Given the description of an element on the screen output the (x, y) to click on. 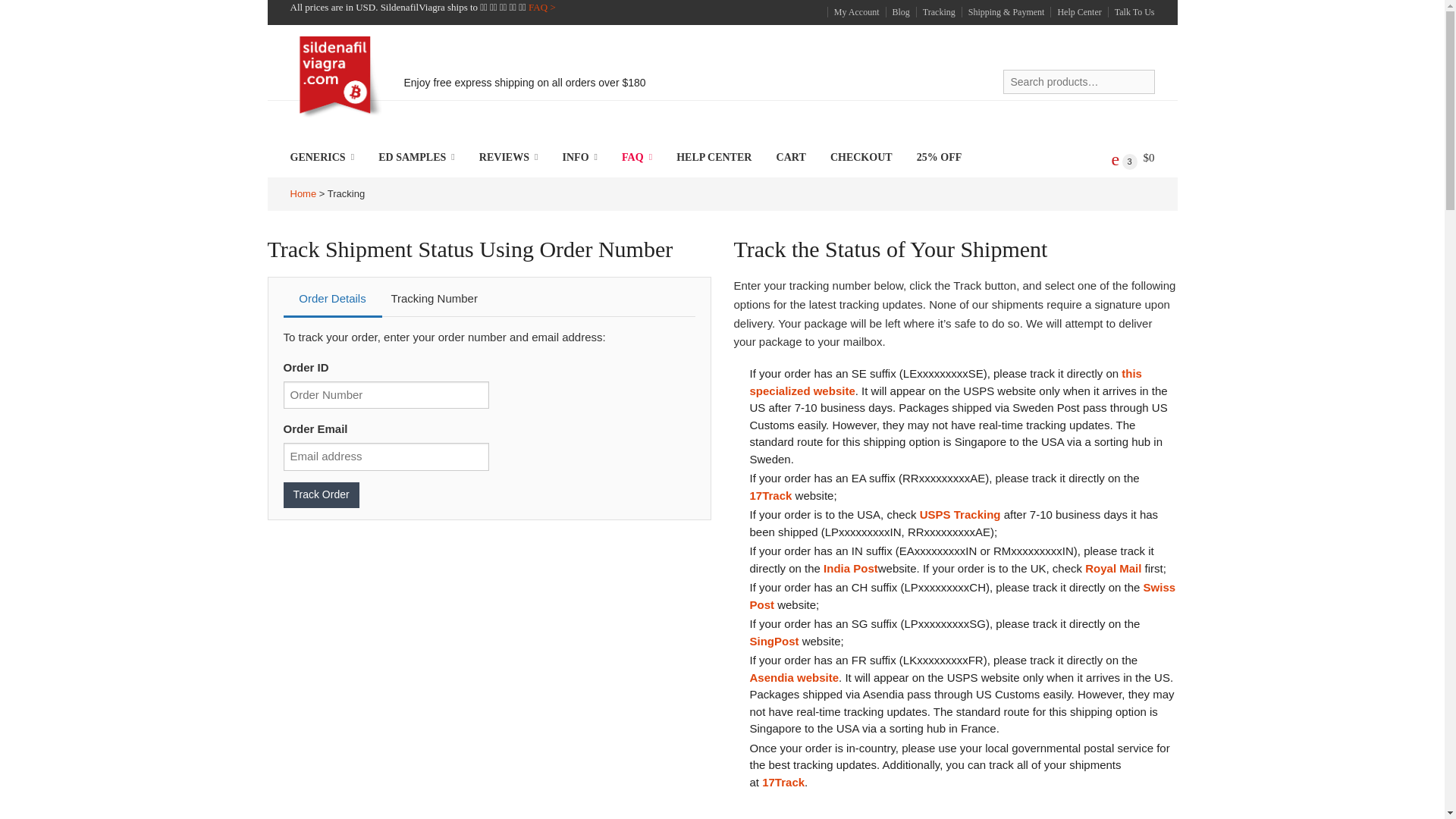
Help Center (1074, 11)
Tracking (935, 11)
Blog (897, 11)
My Account (853, 11)
View your shopping cart (1133, 157)
INFO (579, 157)
ED SAMPLES (416, 157)
Talk To Us (1131, 11)
REVIEWS (508, 157)
GENERICS (321, 157)
